Given the description of an element on the screen output the (x, y) to click on. 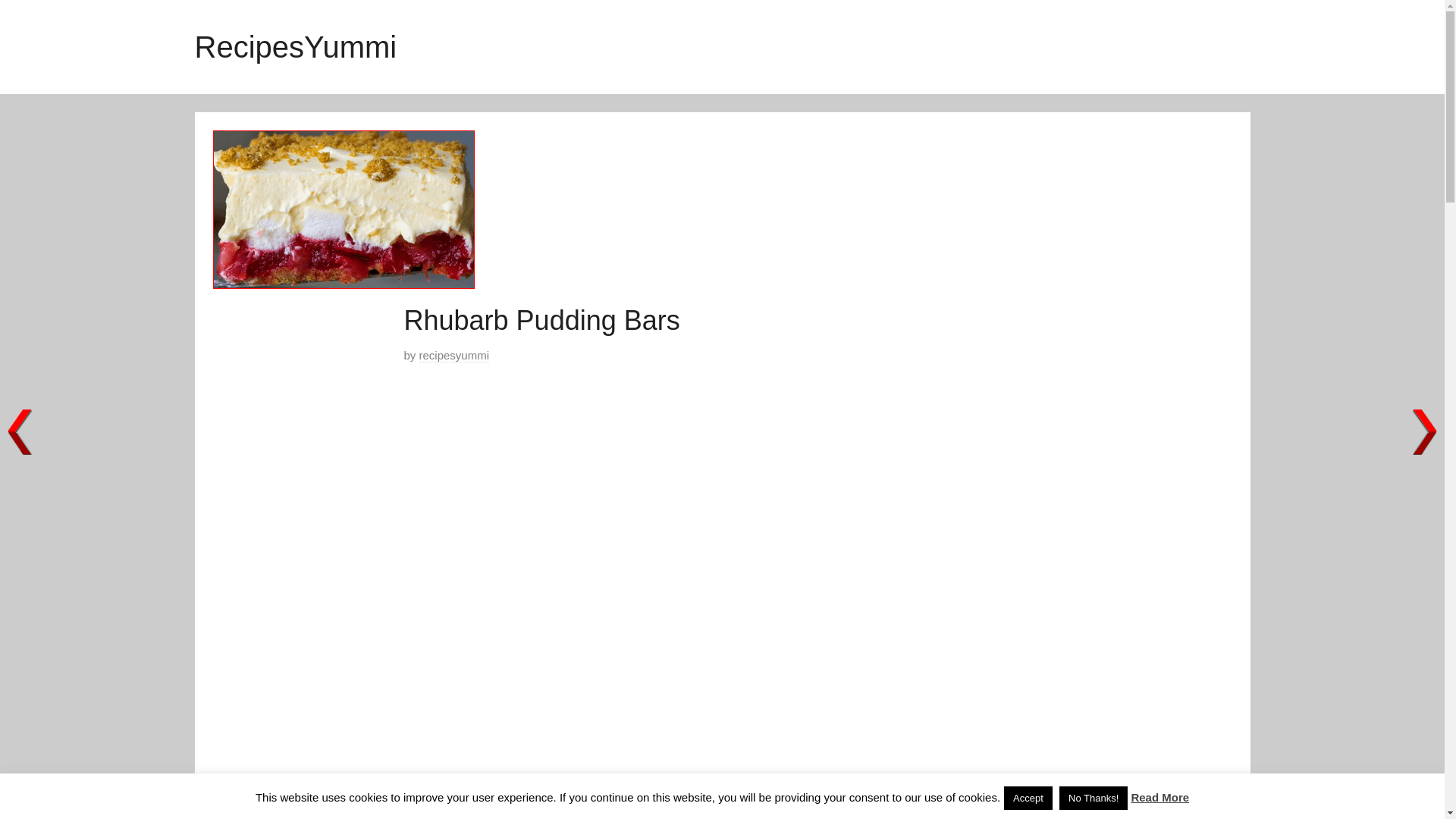
recipesyummi (454, 355)
Read More (1160, 797)
RecipesYummi (294, 46)
No Thanks! (1092, 797)
Accept (1028, 797)
View all posts by recipesyummi (454, 355)
